Given the description of an element on the screen output the (x, y) to click on. 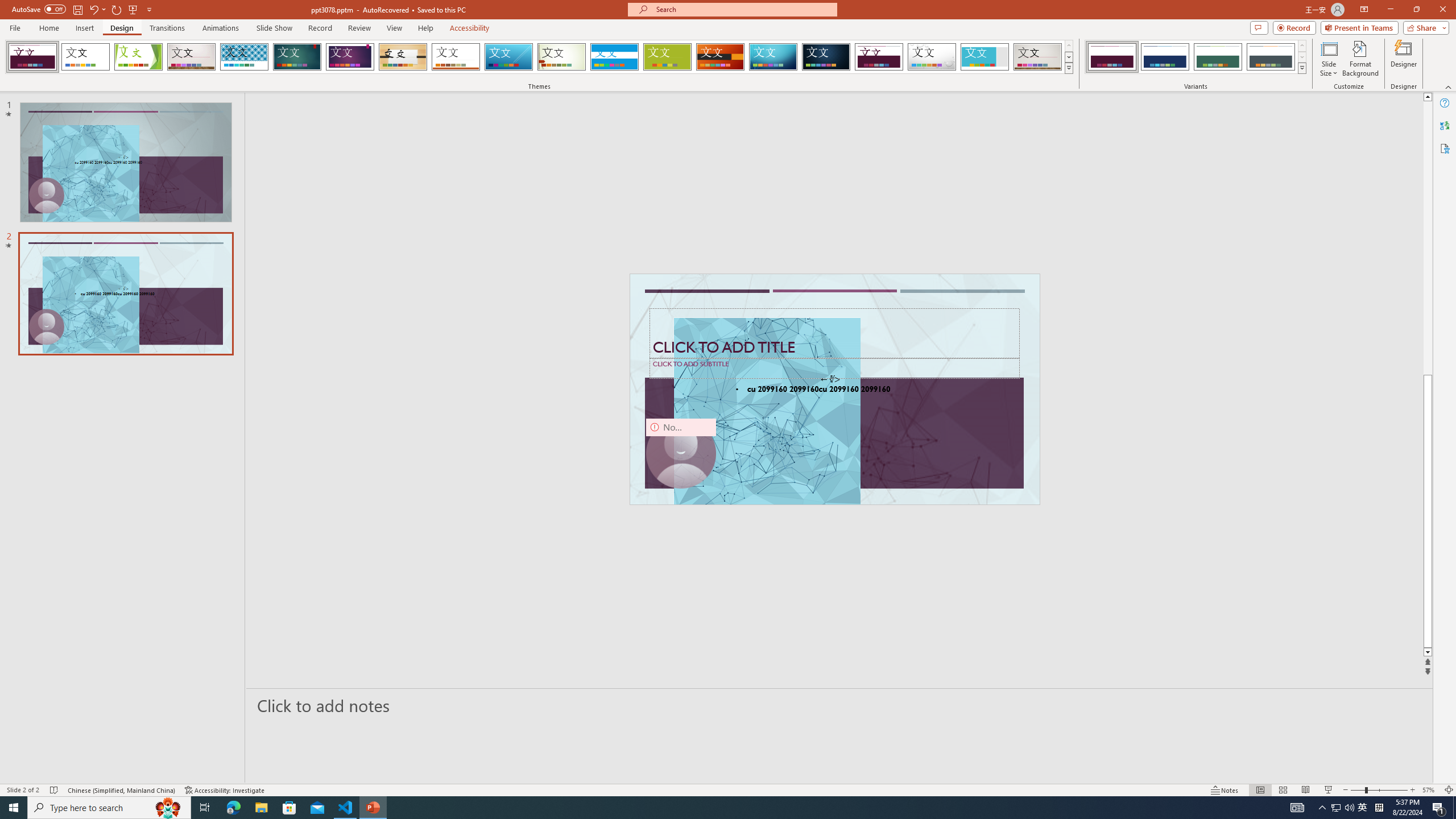
Dividend Variant 3 (1217, 56)
Basis (667, 56)
Variants (1301, 67)
Droplet (931, 56)
Format Background (1360, 58)
Subtitle TextBox (834, 367)
Berlin (720, 56)
Ion (296, 56)
